Given the description of an element on the screen output the (x, y) to click on. 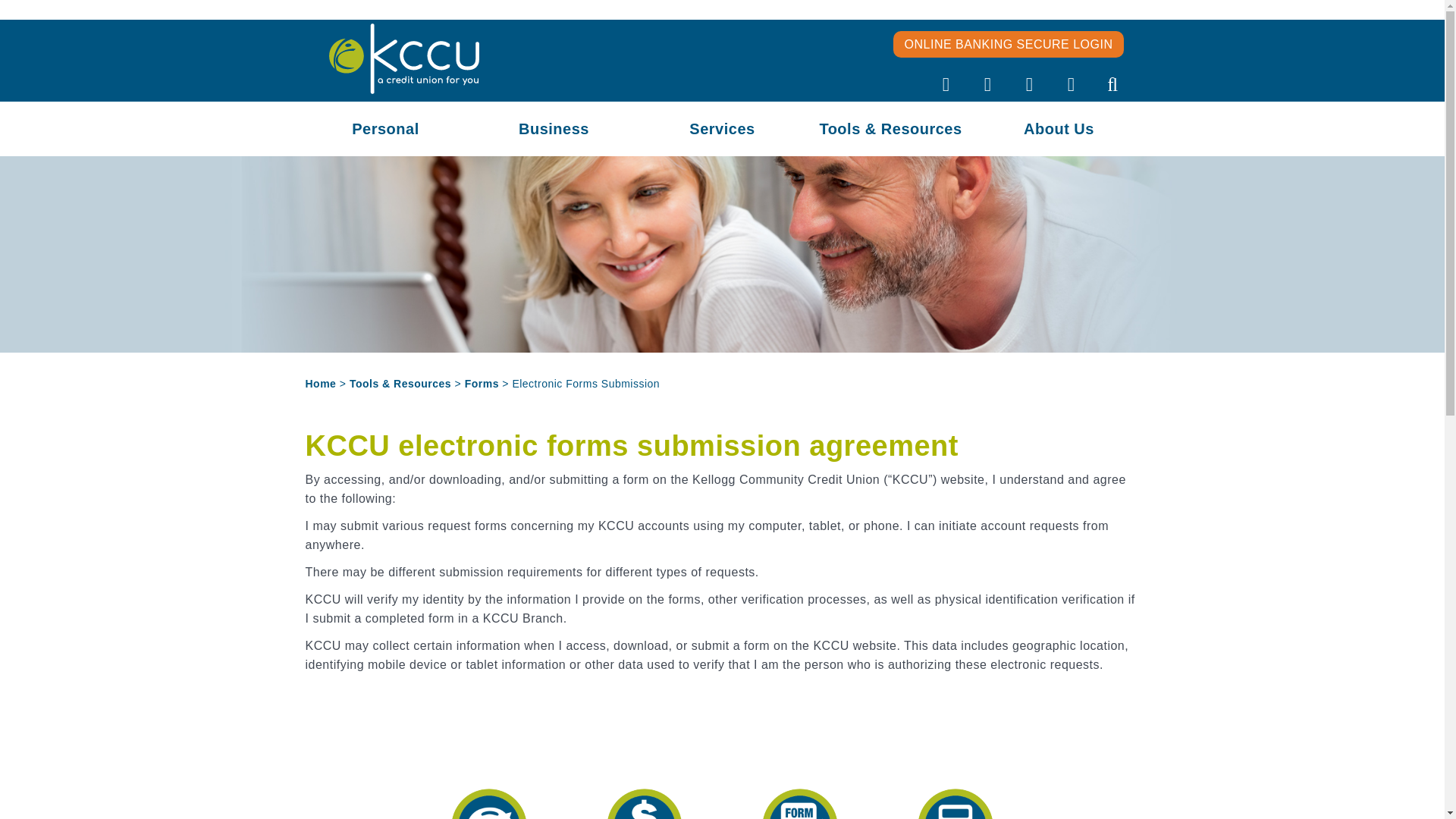
Current Rates (1071, 87)
Contact Us (1029, 87)
Home (946, 87)
Kellogg Community Credit Union (403, 58)
Search (1112, 87)
